Given the description of an element on the screen output the (x, y) to click on. 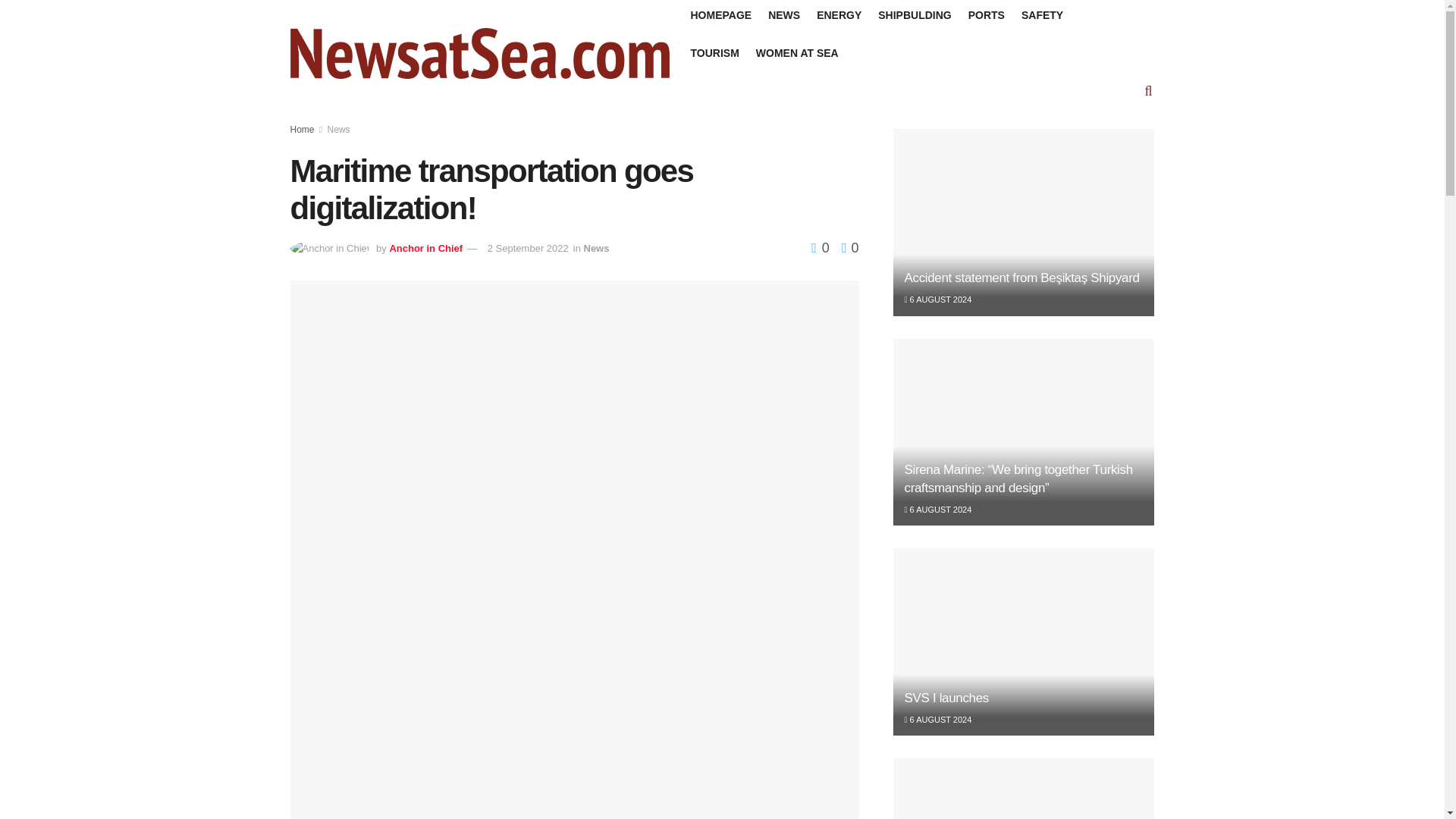
0 (821, 247)
HOMEPAGE (720, 14)
WOMEN AT SEA (796, 52)
SHIPBULDING (913, 14)
News (338, 129)
NEWS (783, 14)
TOURISM (714, 52)
2 September 2022 (528, 247)
SAFETY (1042, 14)
0 (845, 247)
